Given the description of an element on the screen output the (x, y) to click on. 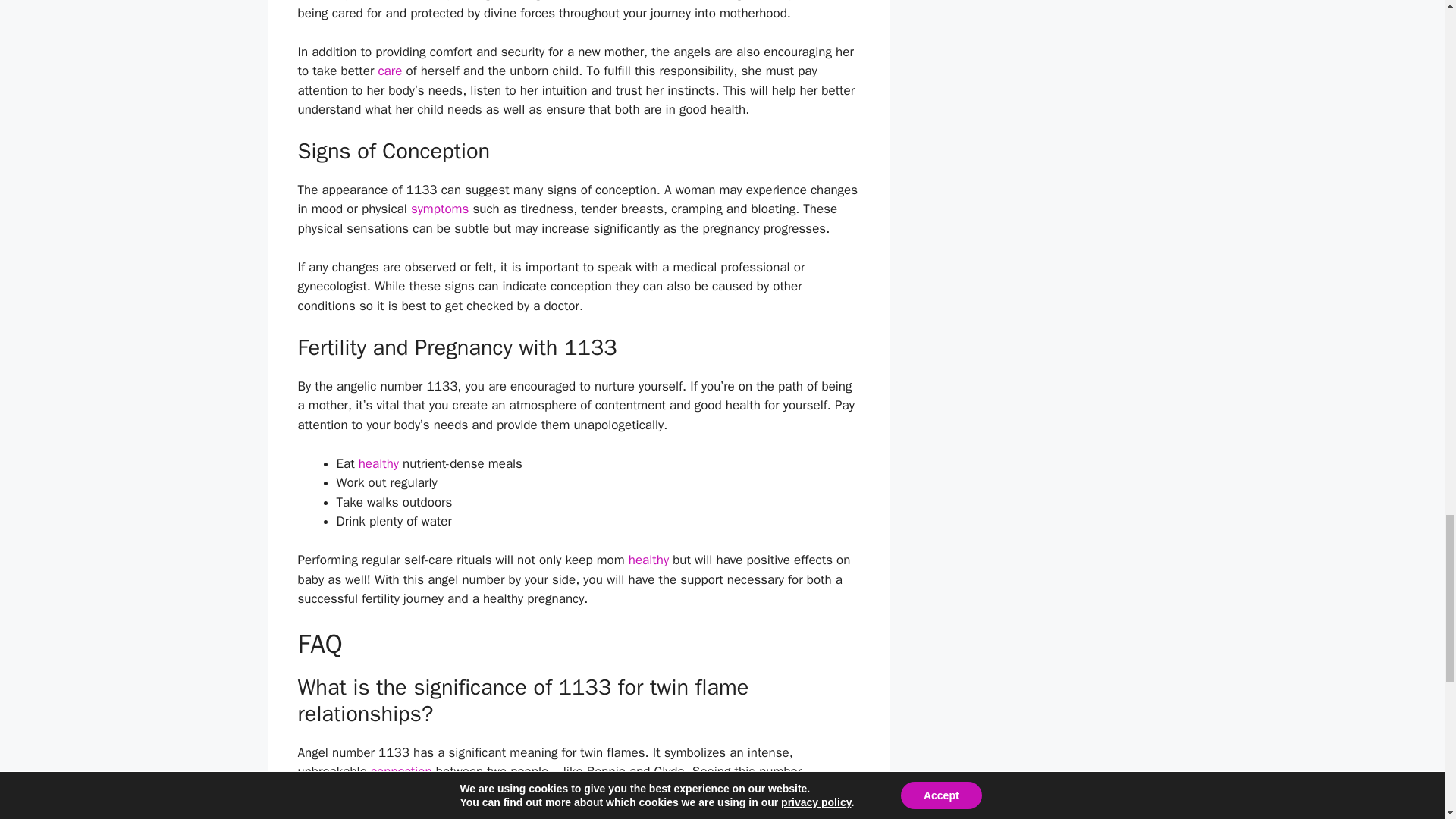
symptoms (439, 208)
care (389, 70)
